Given the description of an element on the screen output the (x, y) to click on. 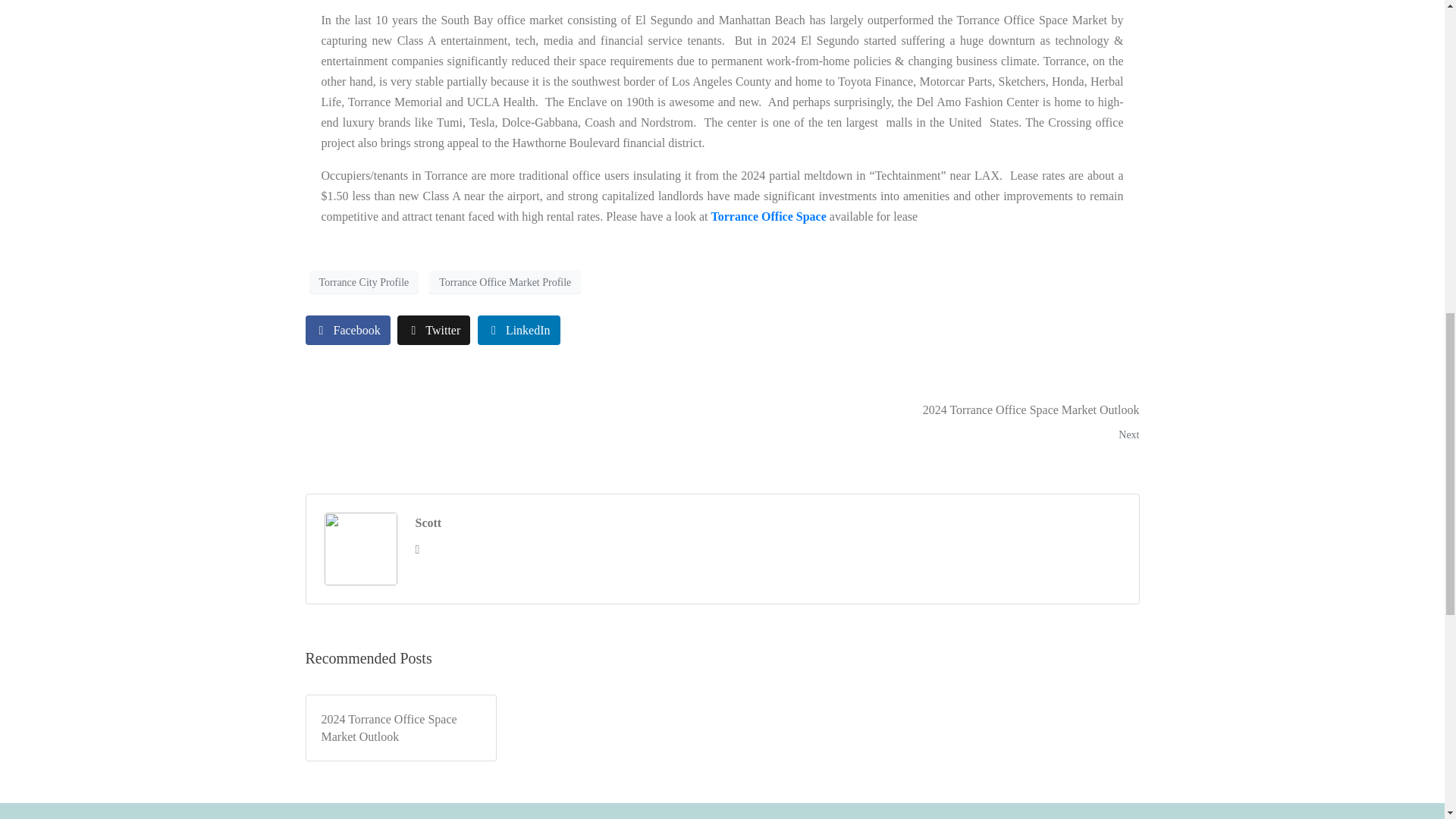
2024 Torrance Office Space Market Outlook (400, 727)
Twitter (433, 329)
Scott (428, 522)
2024 Torrance Office Space Market Outlook (936, 423)
Torrance Office Market Profile (504, 282)
Facebook (936, 423)
LinkedIn (347, 329)
Torrance Office Space (518, 329)
Torrance City Profile (769, 215)
